Given the description of an element on the screen output the (x, y) to click on. 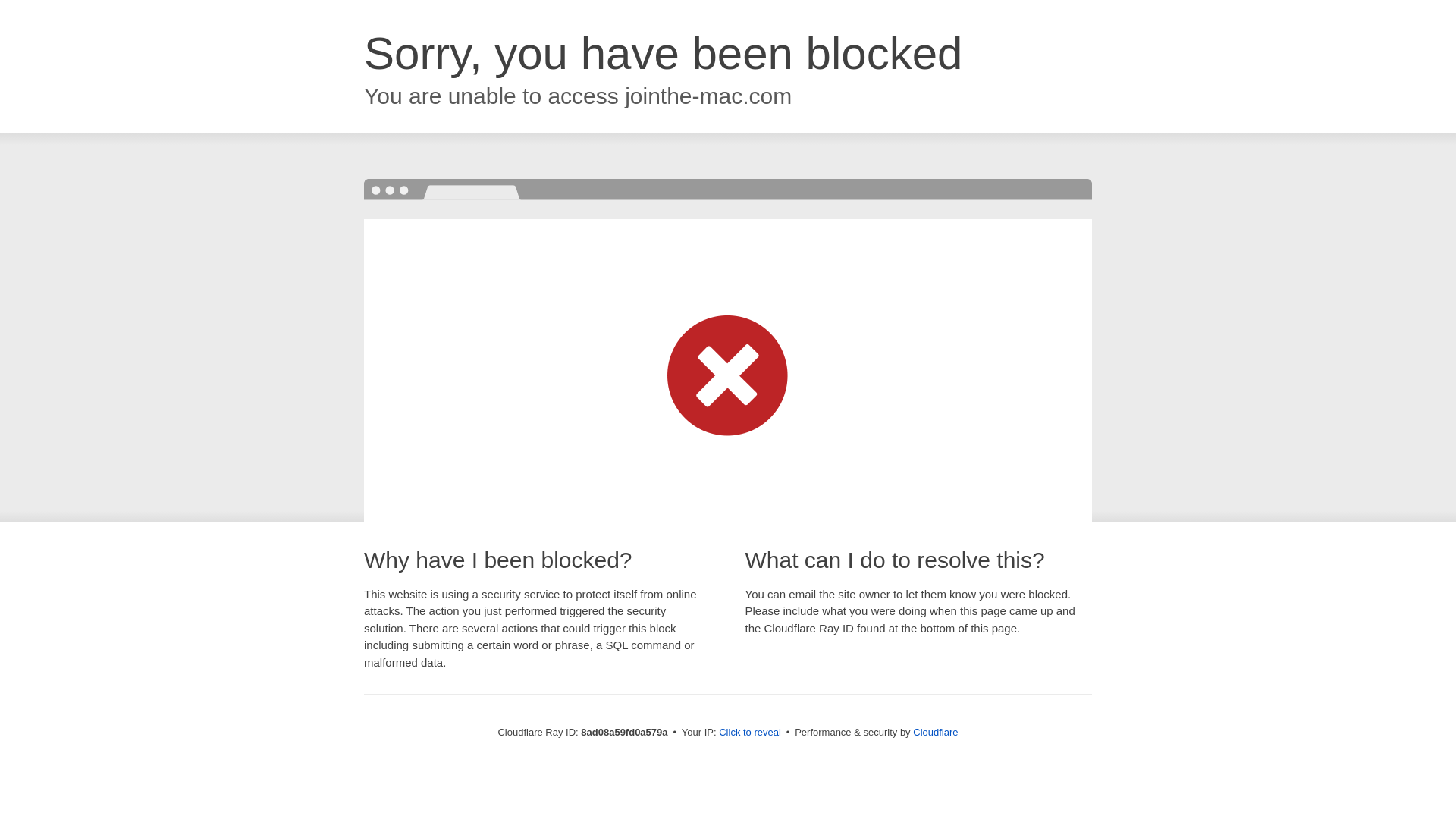
Click to reveal (749, 732)
Cloudflare (935, 731)
